Given the description of an element on the screen output the (x, y) to click on. 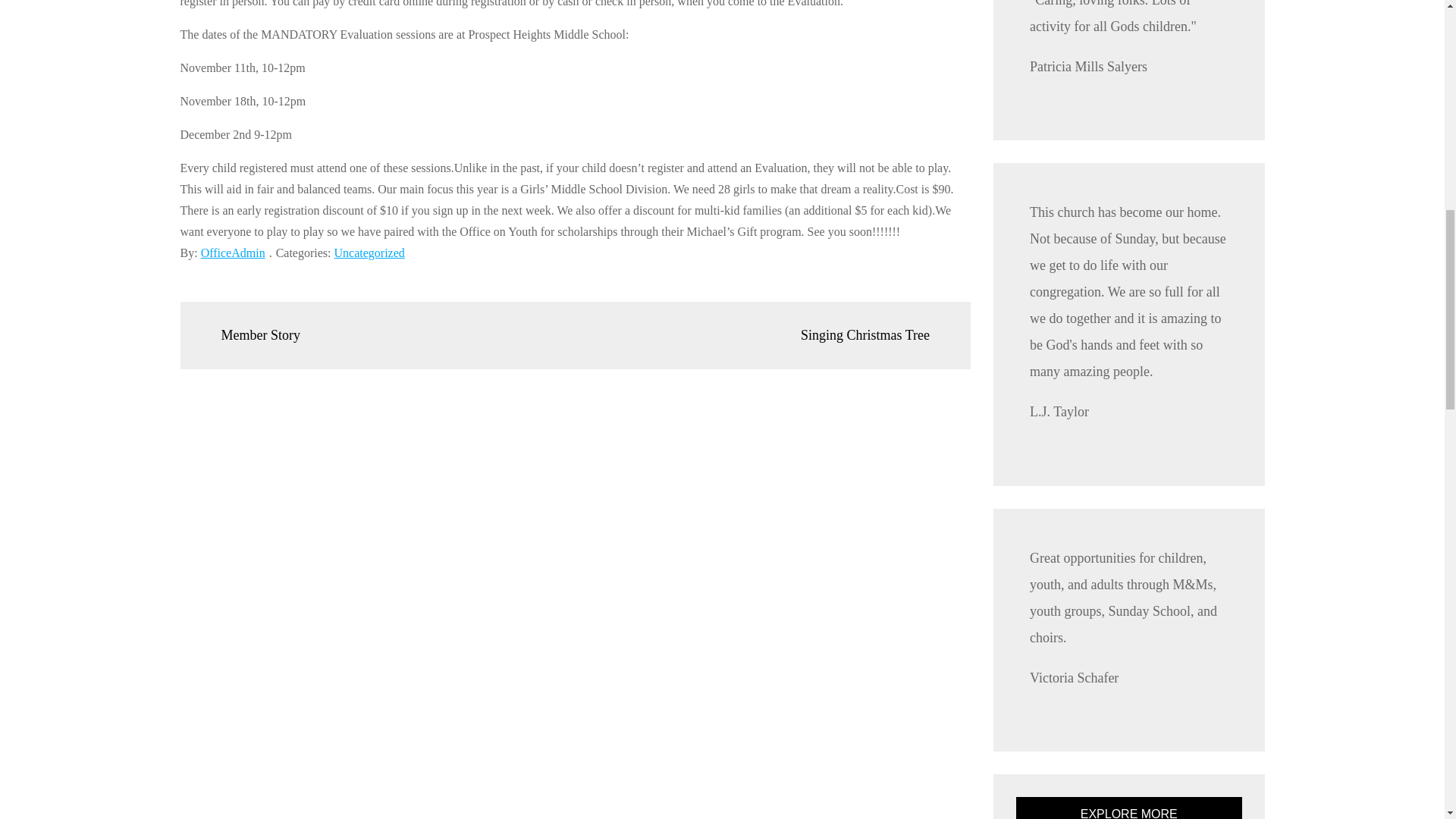
Member Story (251, 335)
Uncategorized (369, 252)
OfficeAdmin (232, 252)
